Given the description of an element on the screen output the (x, y) to click on. 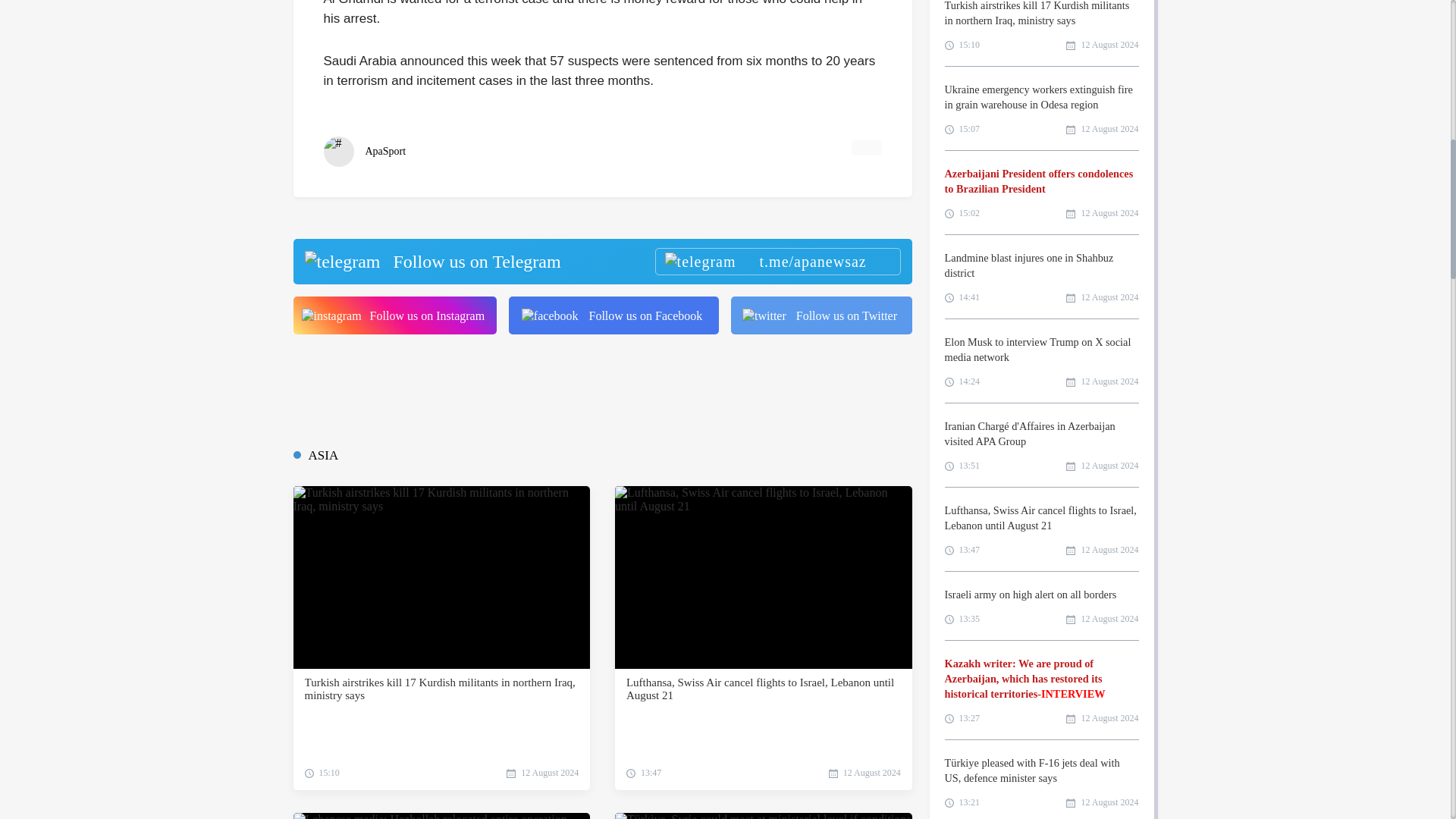
Follow us on Telegram (601, 261)
Follow us on Twitter (821, 315)
Follow us on Facebook (613, 315)
Follow us on Instagram (394, 315)
